Given the description of an element on the screen output the (x, y) to click on. 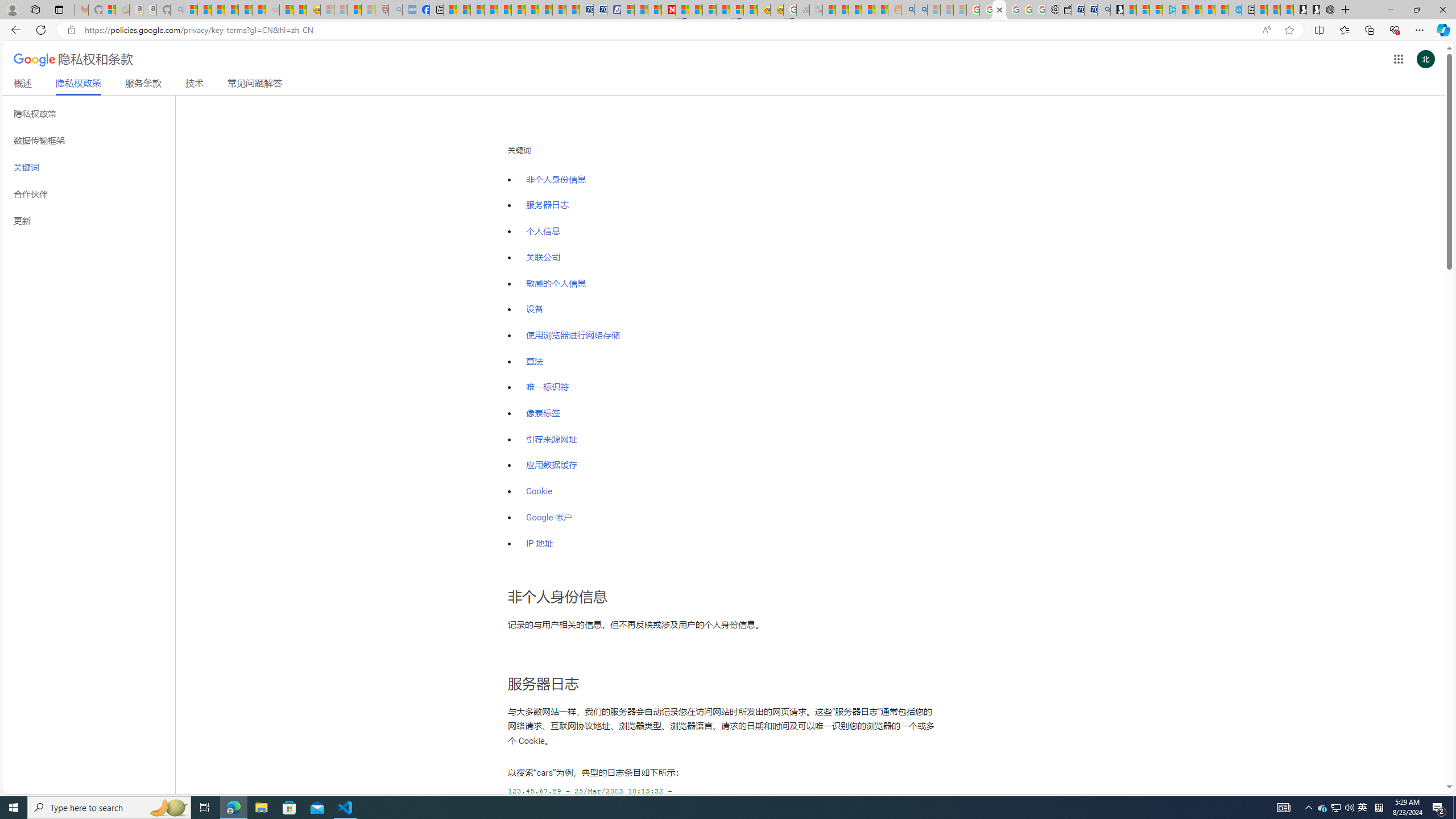
The Weather Channel - MSN (218, 9)
Cheap Hotels - Save70.com (599, 9)
Cookie (539, 491)
